Given the description of an element on the screen output the (x, y) to click on. 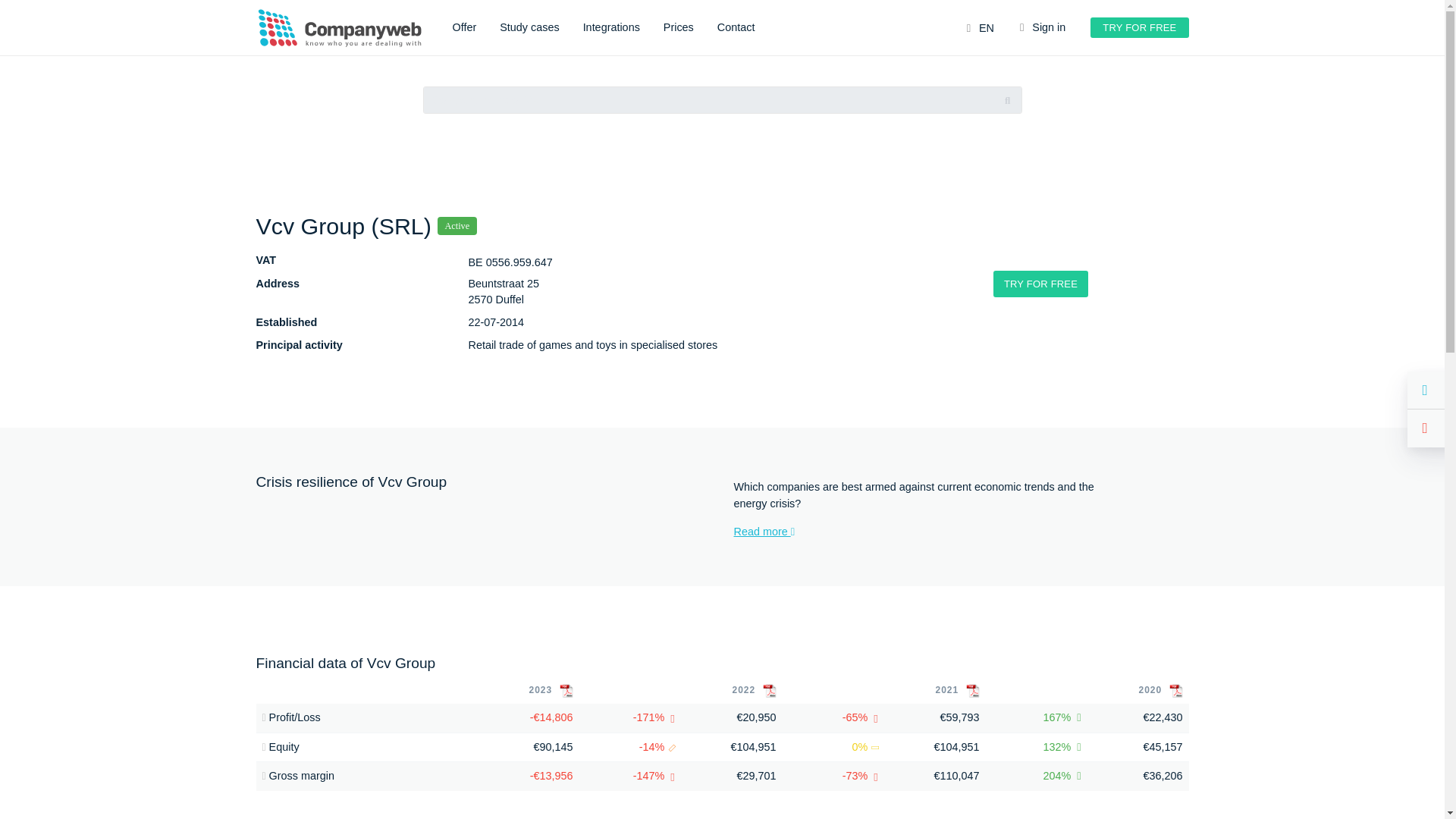
Study cases (528, 27)
Sign in (1042, 27)
Integrations (611, 27)
Contact (736, 27)
Read more (921, 532)
TRY FOR FREE (1039, 284)
Prices (679, 27)
EN (980, 28)
Offer (463, 27)
TRY FOR FREE (1139, 27)
